Given the description of an element on the screen output the (x, y) to click on. 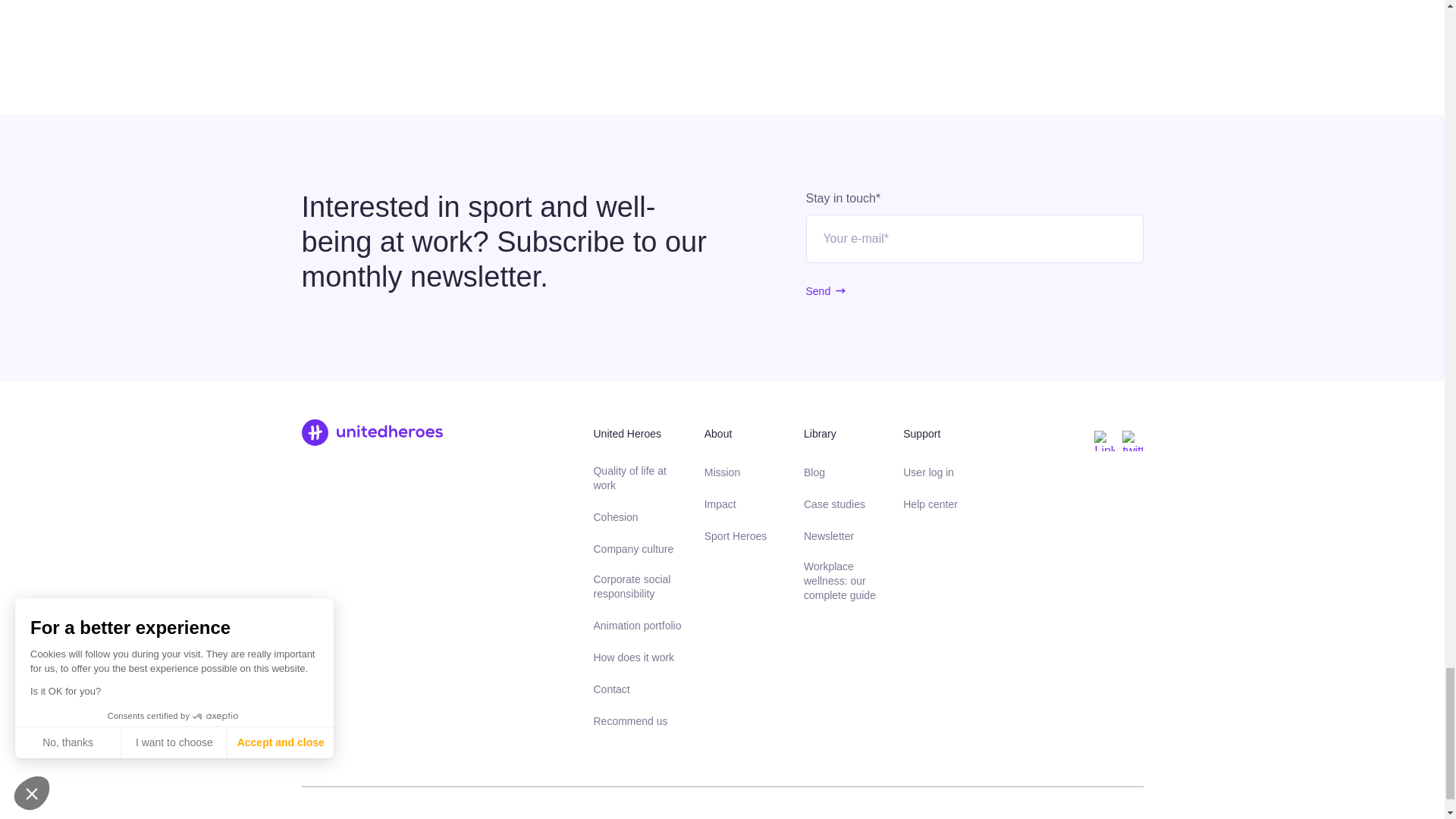
Send (817, 291)
Send (817, 291)
Quality of life at work (636, 478)
